Given the description of an element on the screen output the (x, y) to click on. 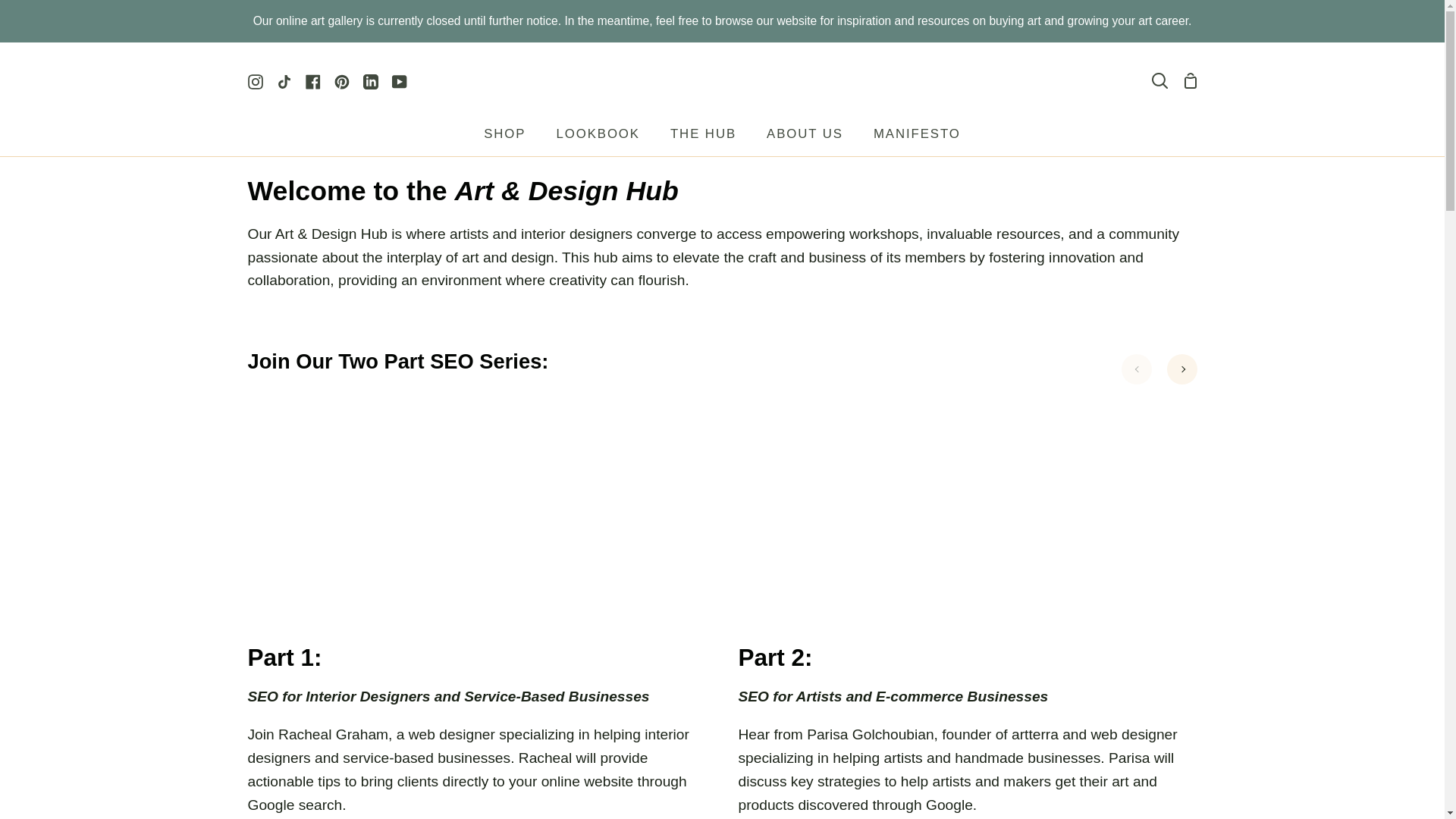
LOOKBOOK (596, 137)
THE HUB (703, 137)
MANIFESTO (917, 137)
SHOP (504, 137)
ABOUT US (805, 137)
